Given the description of an element on the screen output the (x, y) to click on. 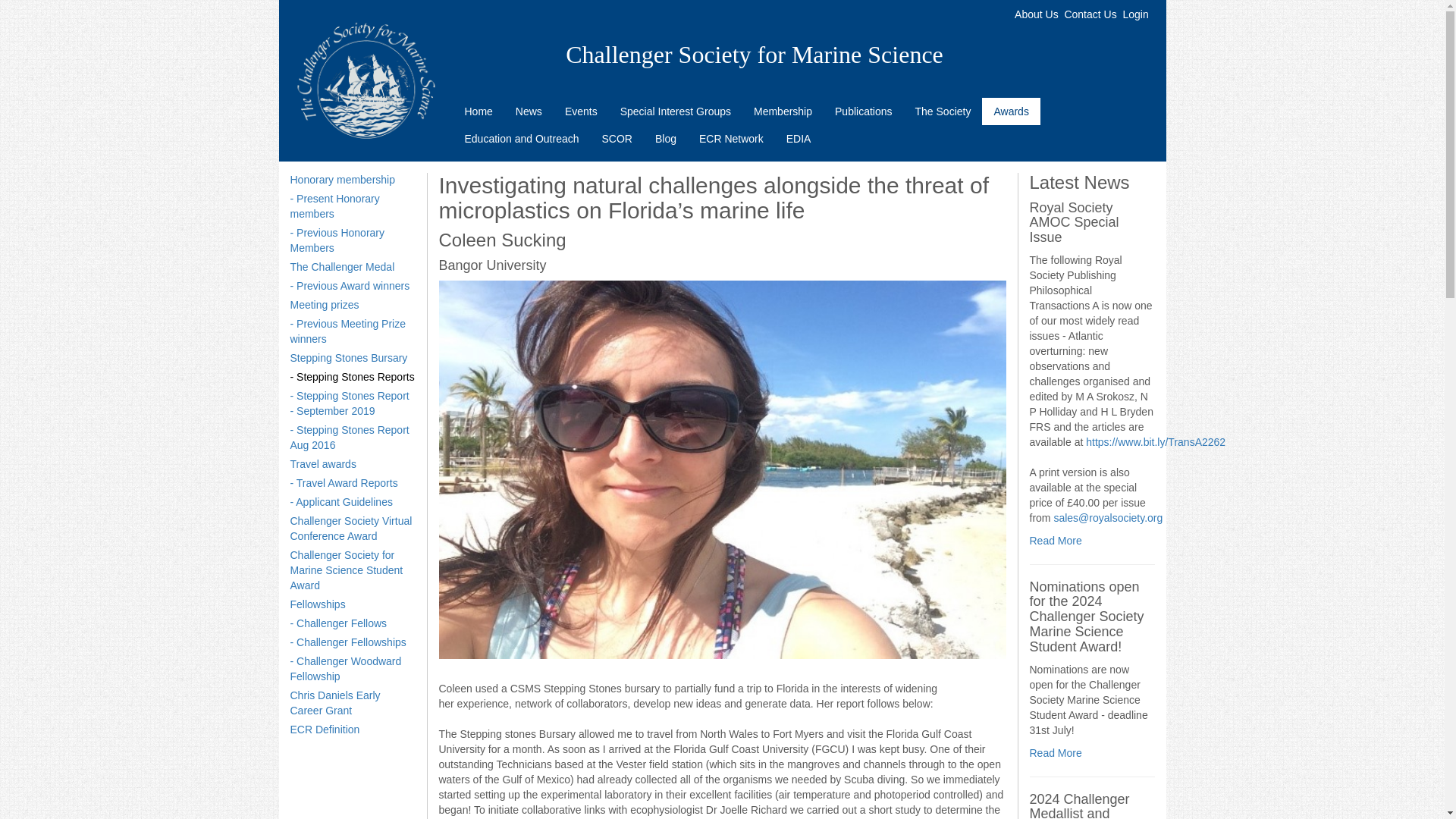
Login (1135, 14)
Publications (864, 111)
News (528, 111)
Contact Us (1090, 14)
Membership (783, 111)
Events (580, 111)
Home (477, 111)
Special Interest Groups (675, 111)
About Us (1036, 14)
